Given the description of an element on the screen output the (x, y) to click on. 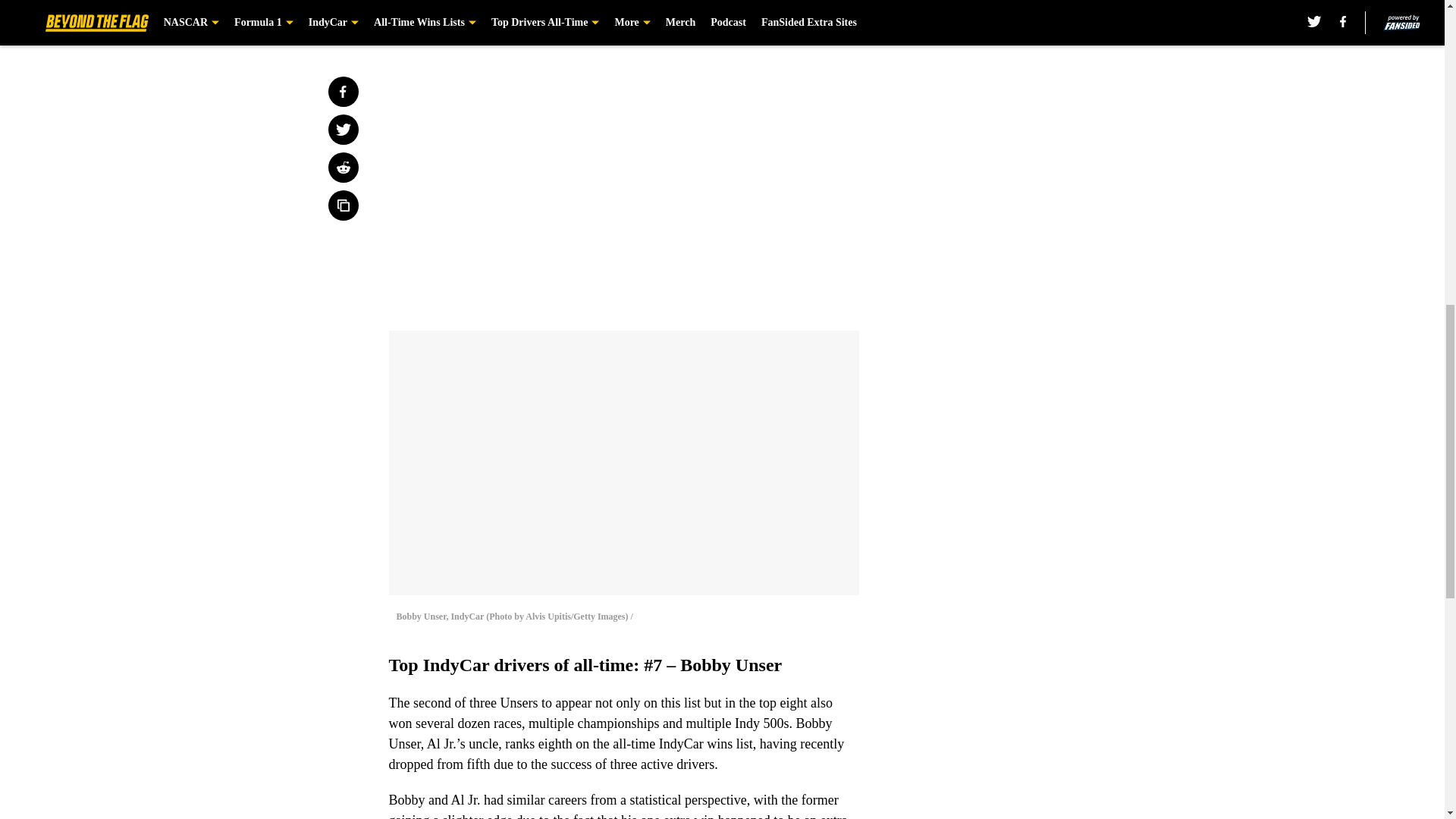
Next (813, 20)
Prev (433, 20)
